Given the description of an element on the screen output the (x, y) to click on. 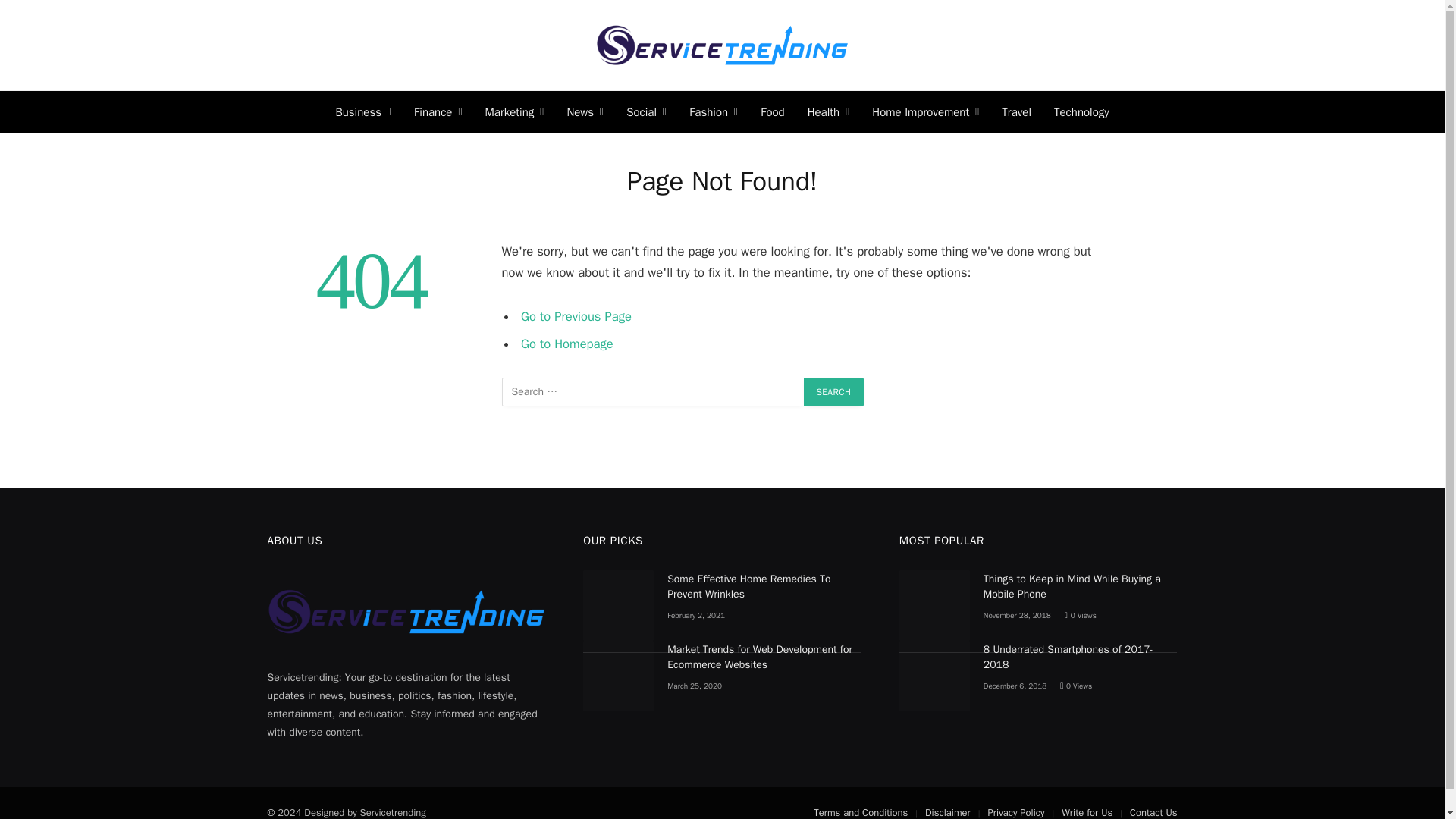
Things to Keep in Mind While Buying a Mobile Phone (934, 605)
8 Underrated Smartphones of 2017-2018 (934, 675)
Technology (1081, 111)
Search (833, 391)
Food (771, 111)
Go to Homepage (566, 342)
Health (828, 111)
Fashion (713, 111)
Market Trends for Web Development for Ecommerce Websites (618, 675)
Social (646, 111)
Go to Previous Page (576, 316)
Home Improvement (925, 111)
Service Trending (721, 45)
Travel (1016, 111)
Search (833, 391)
